Given the description of an element on the screen output the (x, y) to click on. 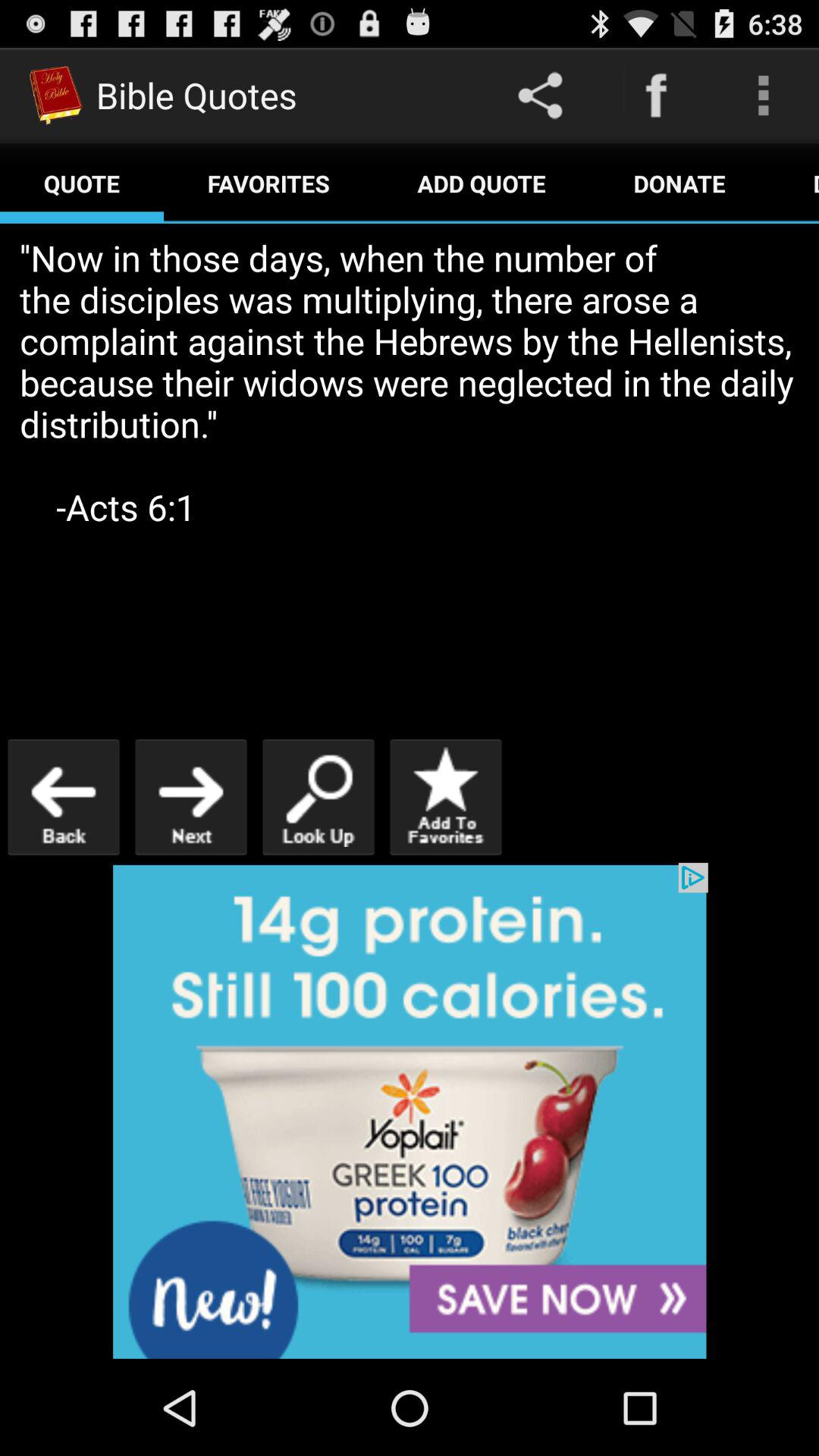
go to back (63, 796)
